Given the description of an element on the screen output the (x, y) to click on. 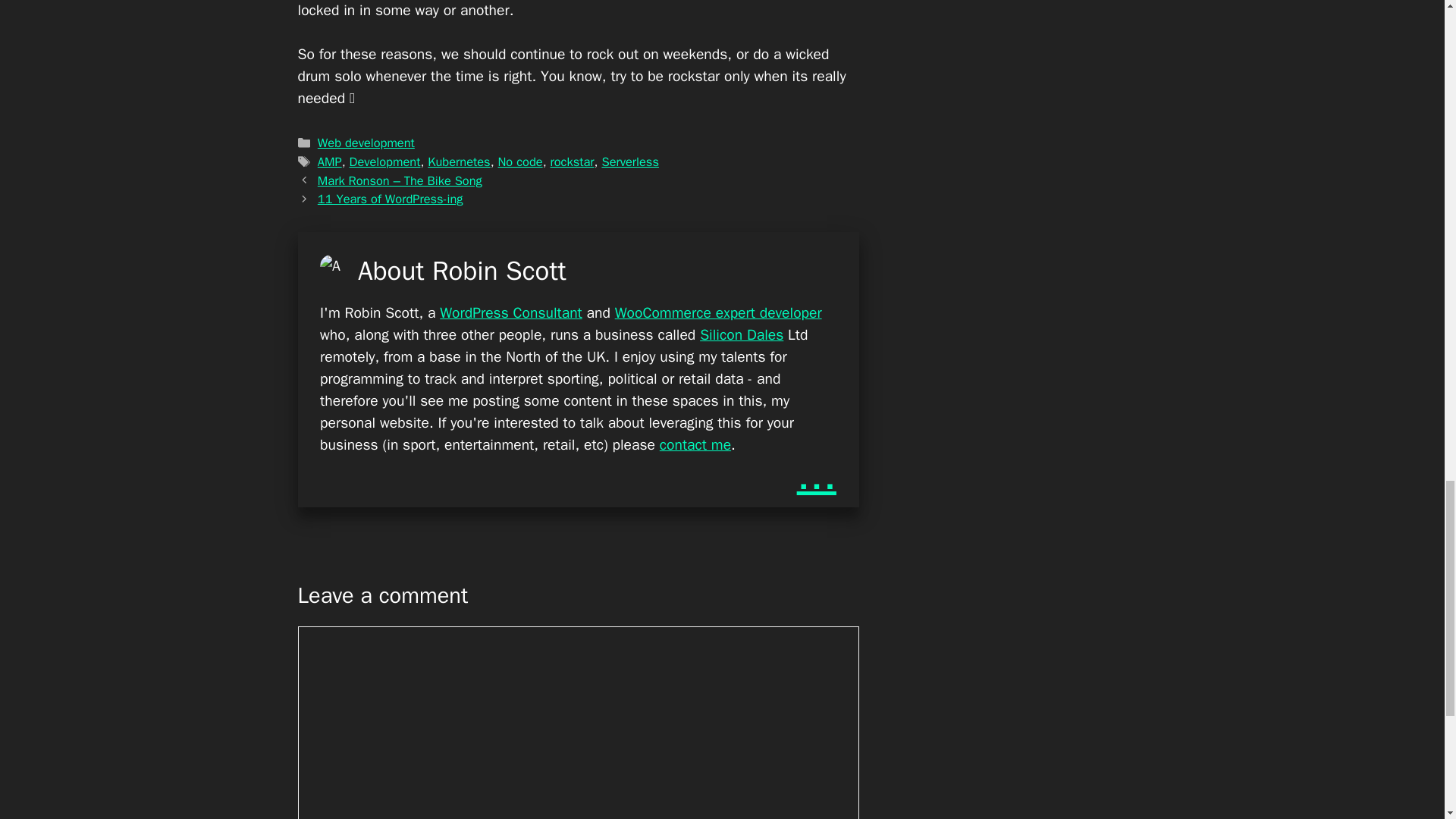
Kubernetes (458, 161)
11 Years of WordPress-ing (390, 198)
AMP (329, 161)
... (815, 474)
Silicon Dales (741, 334)
No code (520, 161)
WooCommerce expert developer (718, 312)
Development (384, 161)
WordPress Consultant (510, 312)
Read more (815, 474)
contact me (694, 444)
Serverless (630, 161)
rockstar (572, 161)
Web development (365, 142)
